Given the description of an element on the screen output the (x, y) to click on. 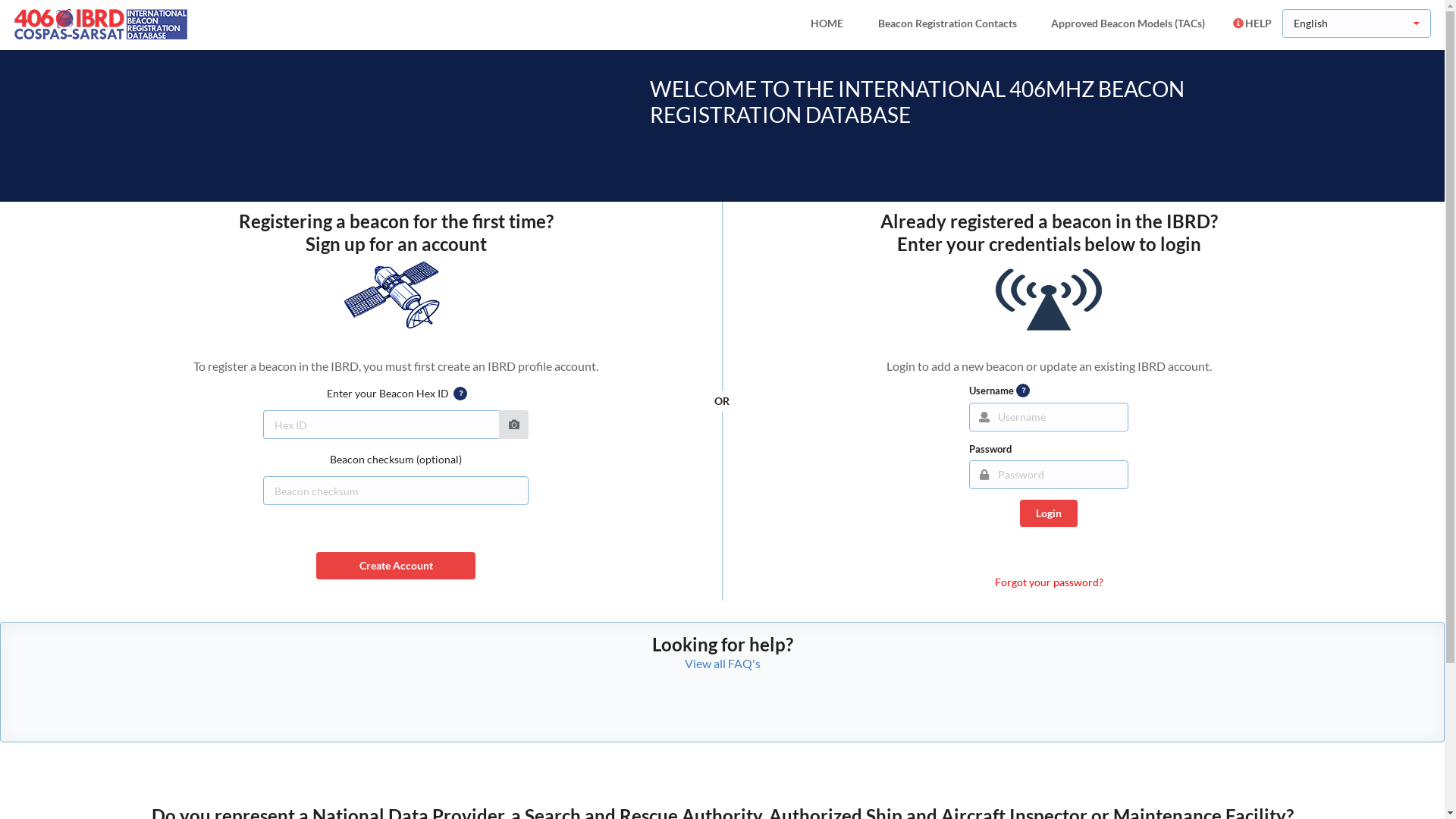
Beacon Registration Contacts Element type: text (947, 23)
Create Account Element type: text (395, 565)
HELP Element type: text (1251, 23)
Login Element type: text (1048, 513)
Forgot your password? Element type: text (1048, 581)
HOME Element type: text (826, 23)
View all FAQ's Element type: text (721, 662)
Approved Beacon Models (TACs) Element type: text (1127, 23)
